Given the description of an element on the screen output the (x, y) to click on. 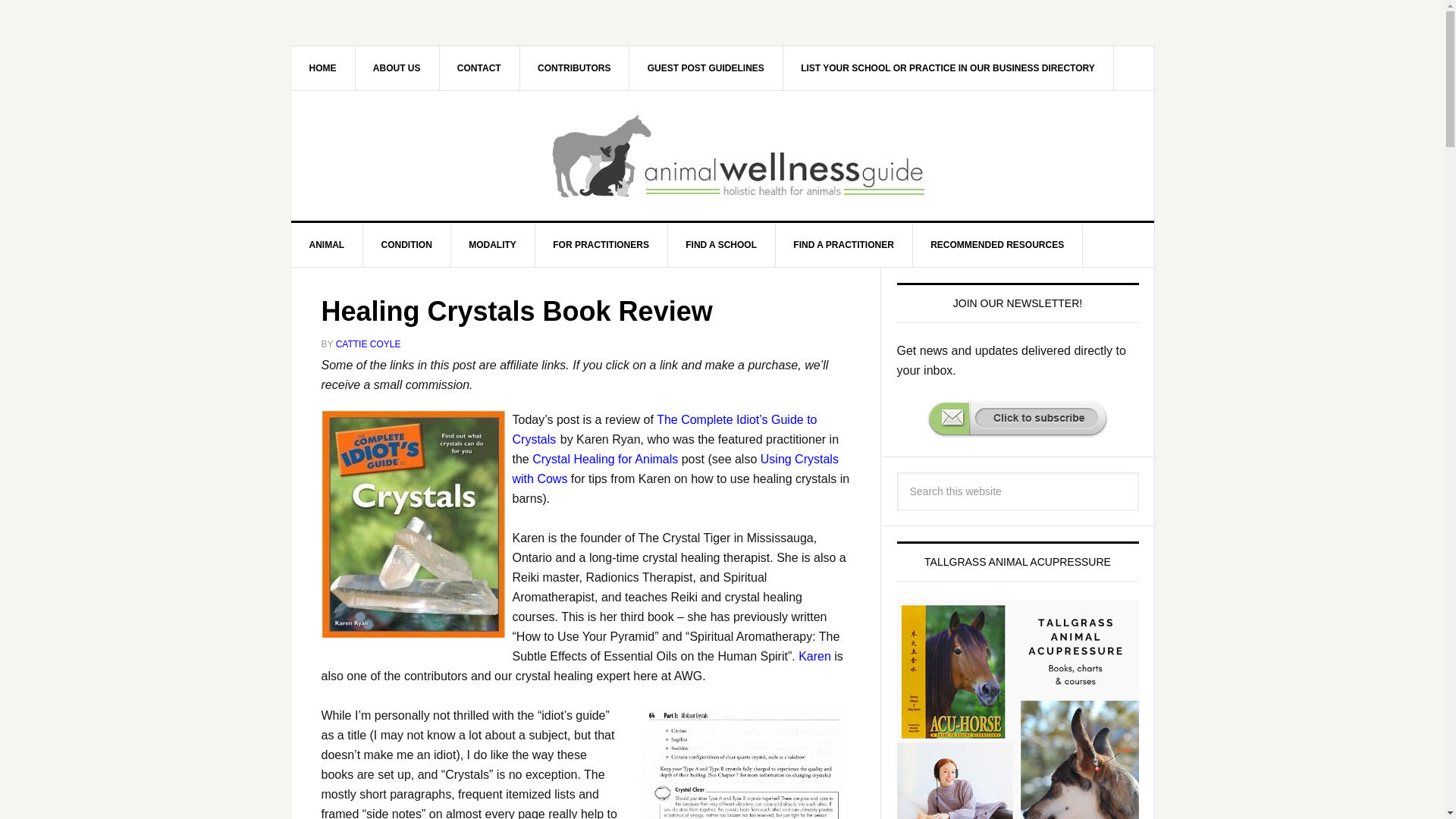
CONDITION (406, 244)
ANIMAL (327, 244)
ABOUT US (397, 67)
Page from Crystals (745, 762)
LIST YOUR SCHOOL OR PRACTICE IN OUR BUSINESS DIRECTORY (948, 67)
Crystal healing for animals (605, 458)
Crystals and cows (675, 468)
ANIMAL WELLNESS GUIDE (737, 155)
The complete idiots guide to crystals (664, 428)
